Given the description of an element on the screen output the (x, y) to click on. 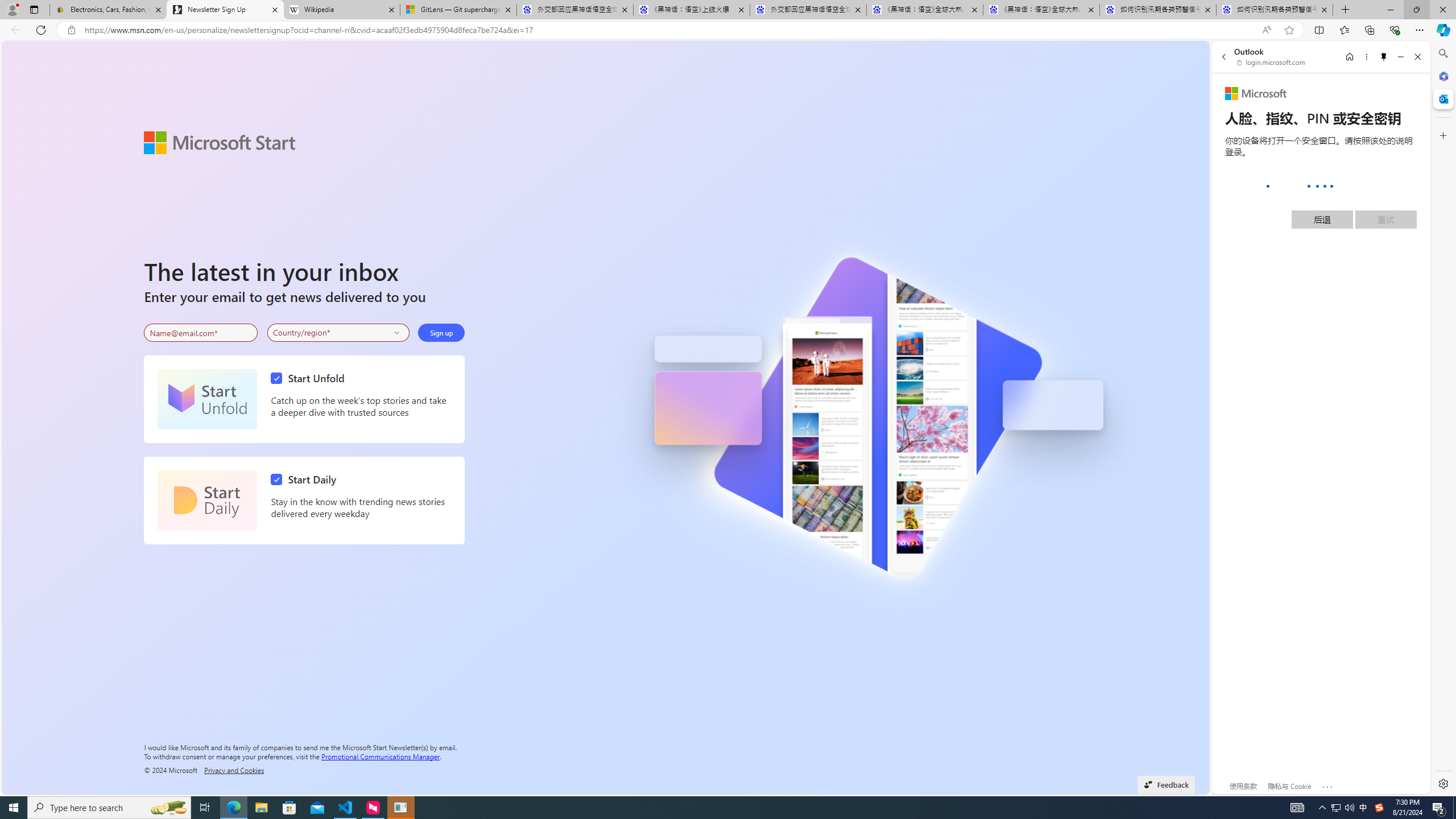
Promotional Communications Manager (380, 755)
Privacy and Cookies (233, 769)
Enter your email (200, 332)
